Given the description of an element on the screen output the (x, y) to click on. 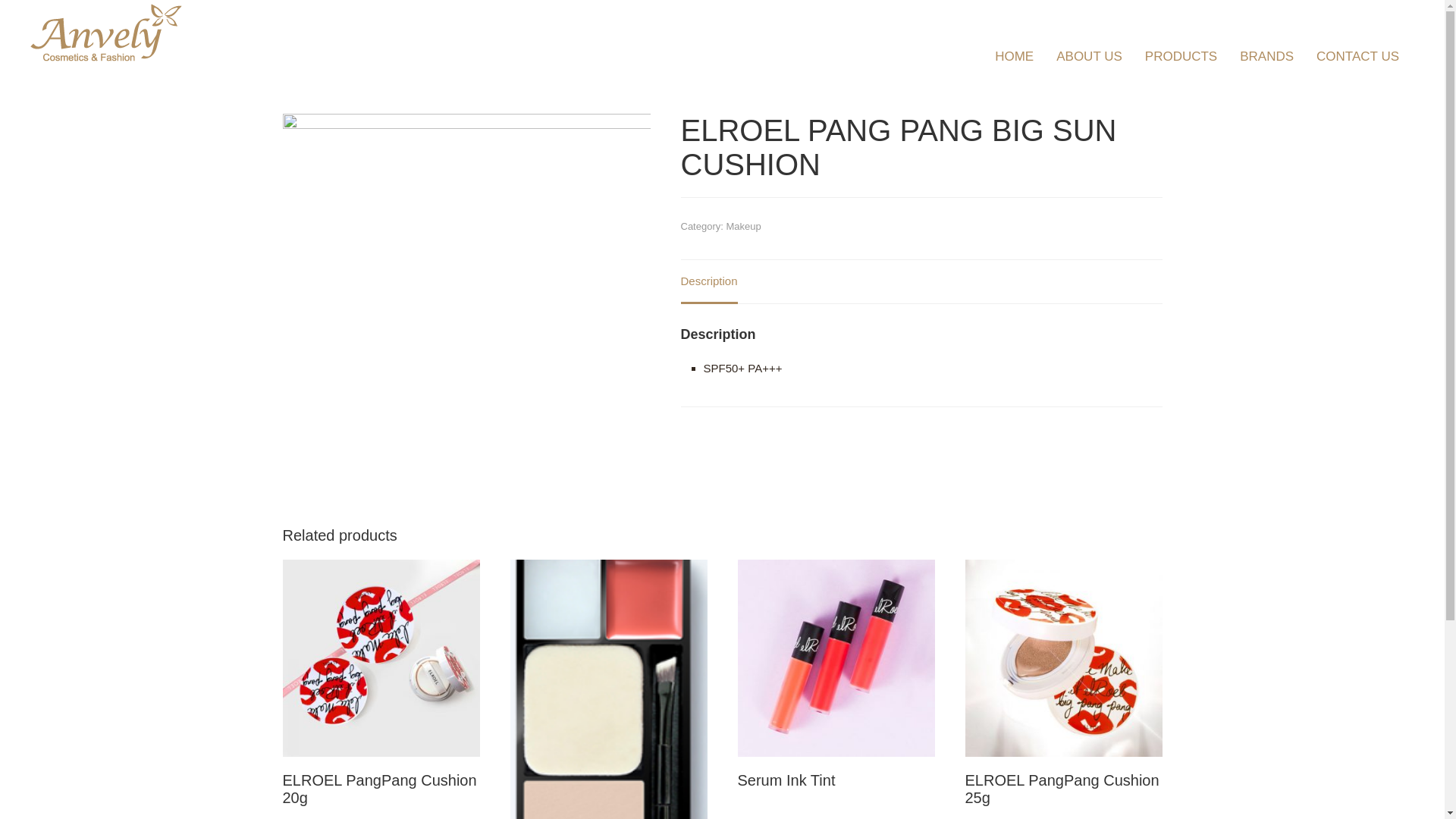
ELROEL-PANG-PANG-BIG-SUN-CUSHION Element type: hover (465, 297)
ABOUT US Element type: text (1088, 56)
HOME Element type: text (1013, 56)
PRODUCTS Element type: text (1180, 56)
Makeup Element type: text (742, 226)
CONTACT US Element type: text (1357, 56)
BRANDS Element type: text (1266, 56)
Description Element type: text (708, 282)
Serum Ink Tint Element type: text (835, 681)
